Given the description of an element on the screen output the (x, y) to click on. 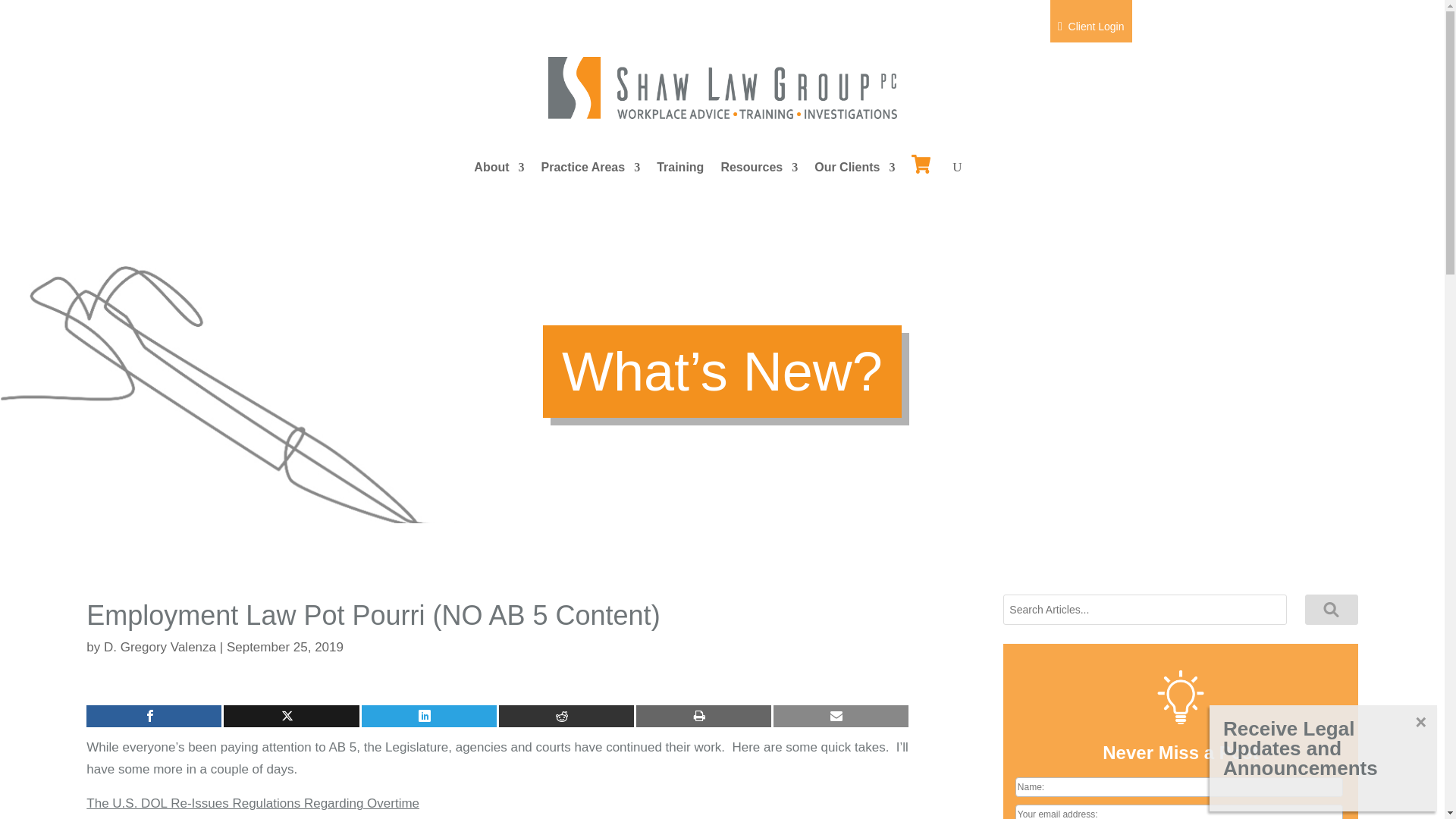
Name: (1178, 786)
About (499, 170)
Our Clients (854, 170)
Practice Areas (590, 170)
Training (679, 170)
Resources (758, 170)
Your email address: (1178, 811)
